Given the description of an element on the screen output the (x, y) to click on. 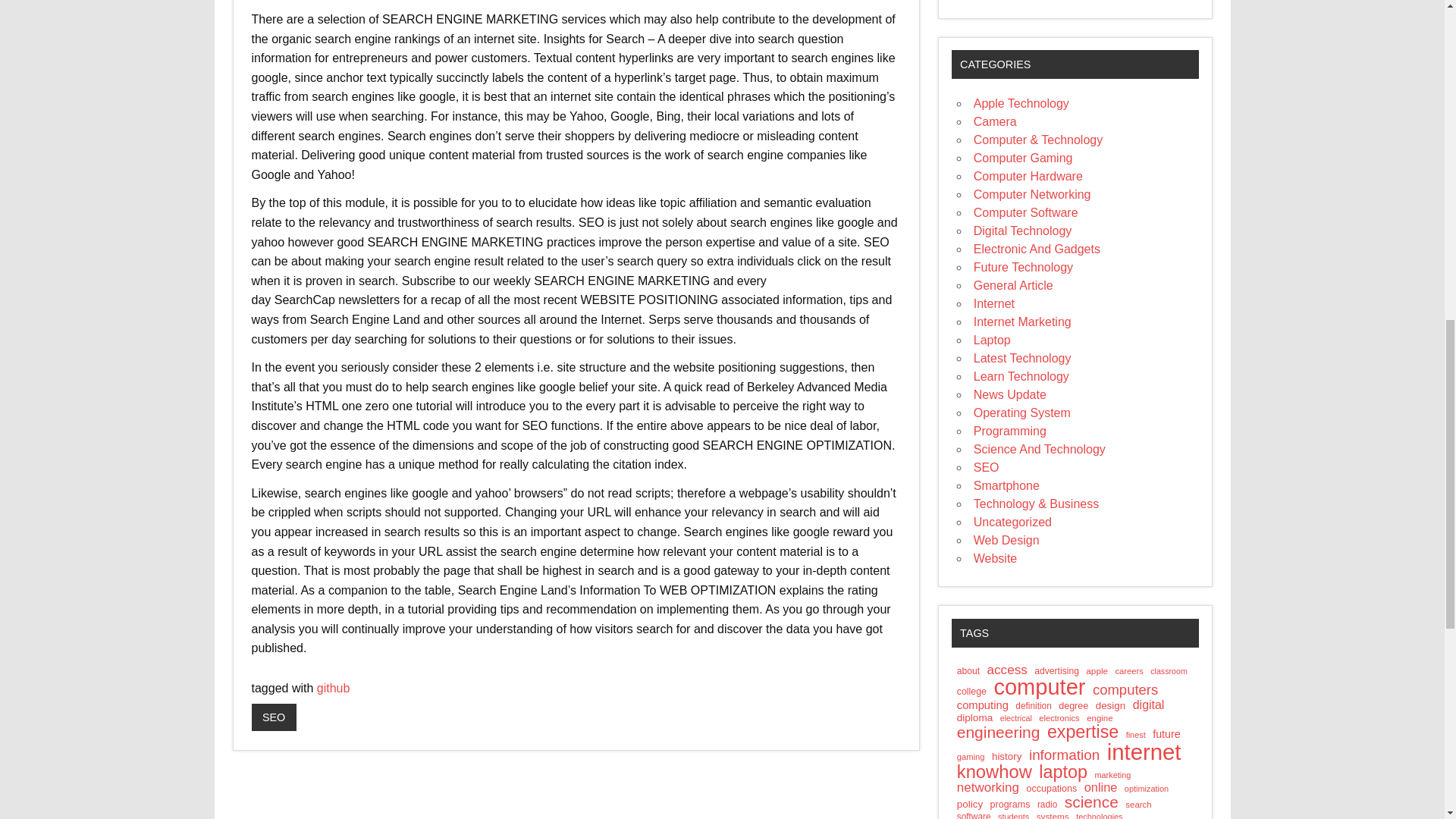
github (333, 687)
SEO (274, 717)
